Given the description of an element on the screen output the (x, y) to click on. 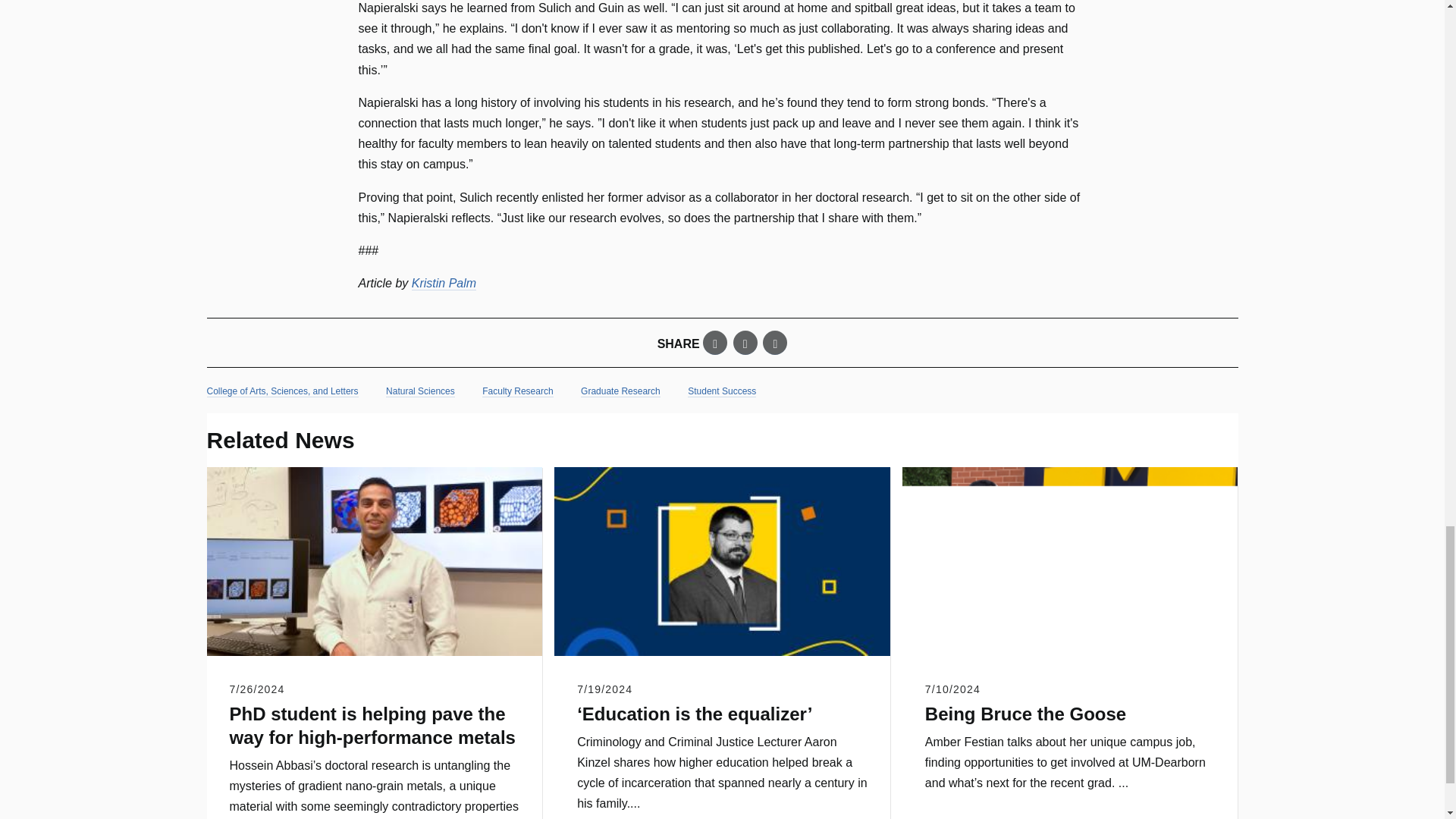
College of Arts, Sciences, and Letters (282, 391)
Student Success (721, 391)
Kristin Palm (444, 283)
Natural Sciences (419, 391)
Faculty Research (517, 391)
Graduate Research (620, 391)
